Given the description of an element on the screen output the (x, y) to click on. 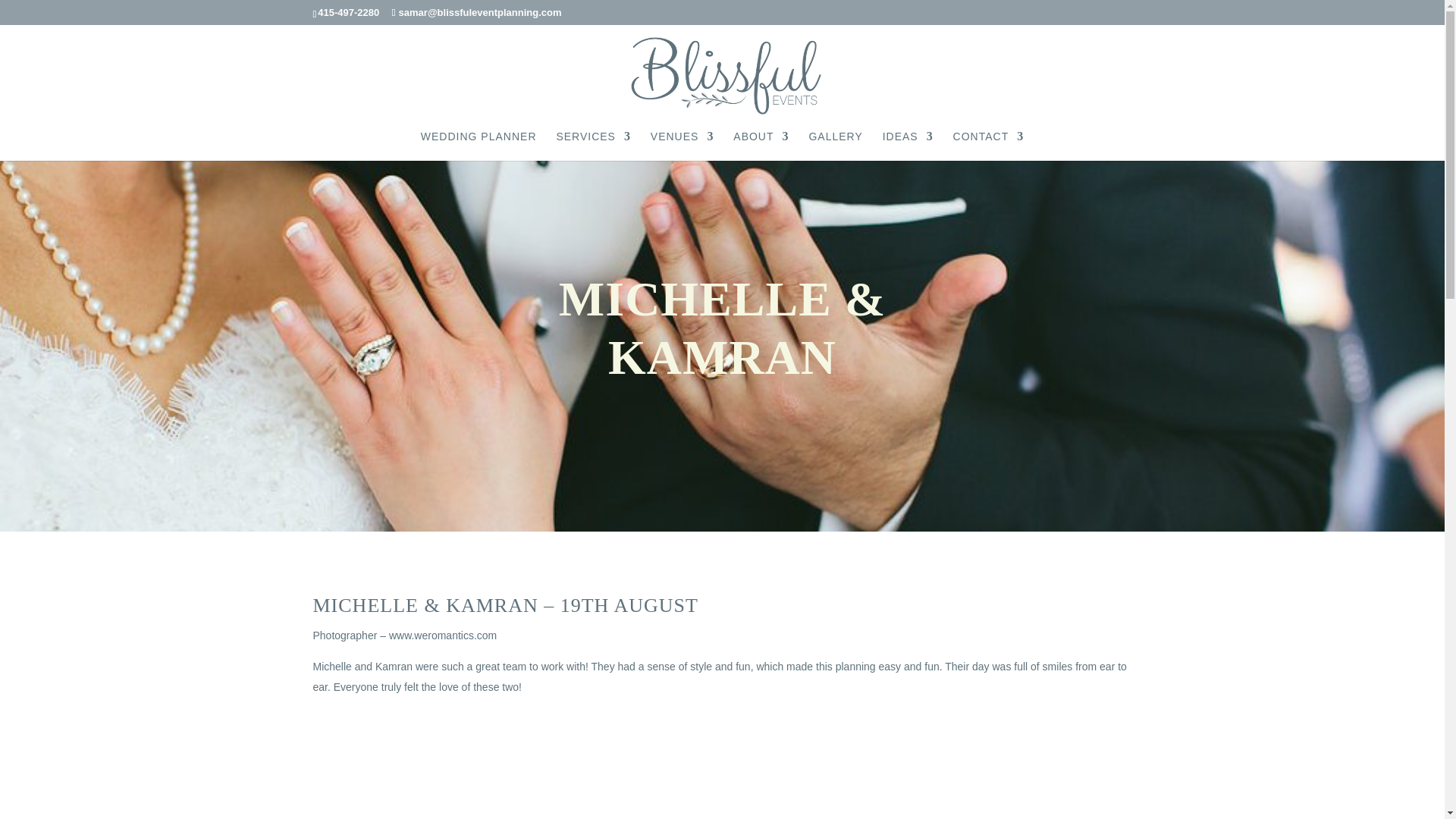
ABOUT (761, 145)
IDEAS (907, 145)
SERVICES (593, 145)
CONTACT (989, 145)
VENUES (682, 145)
GALLERY (834, 145)
WEDDING PLANNER (478, 145)
